Given the description of an element on the screen output the (x, y) to click on. 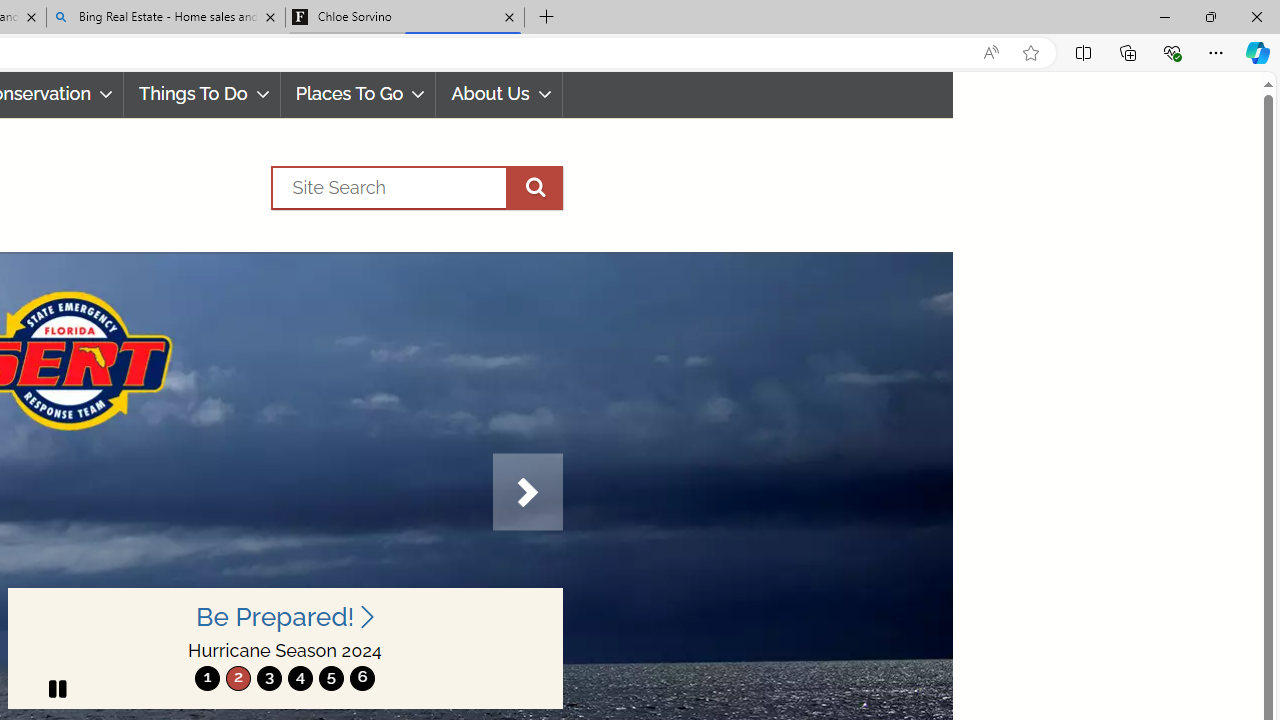
move to slide 4 (300, 678)
move to slide 3 (269, 678)
move to slide 6 (362, 678)
move to slide 1 (207, 678)
